Given the description of an element on the screen output the (x, y) to click on. 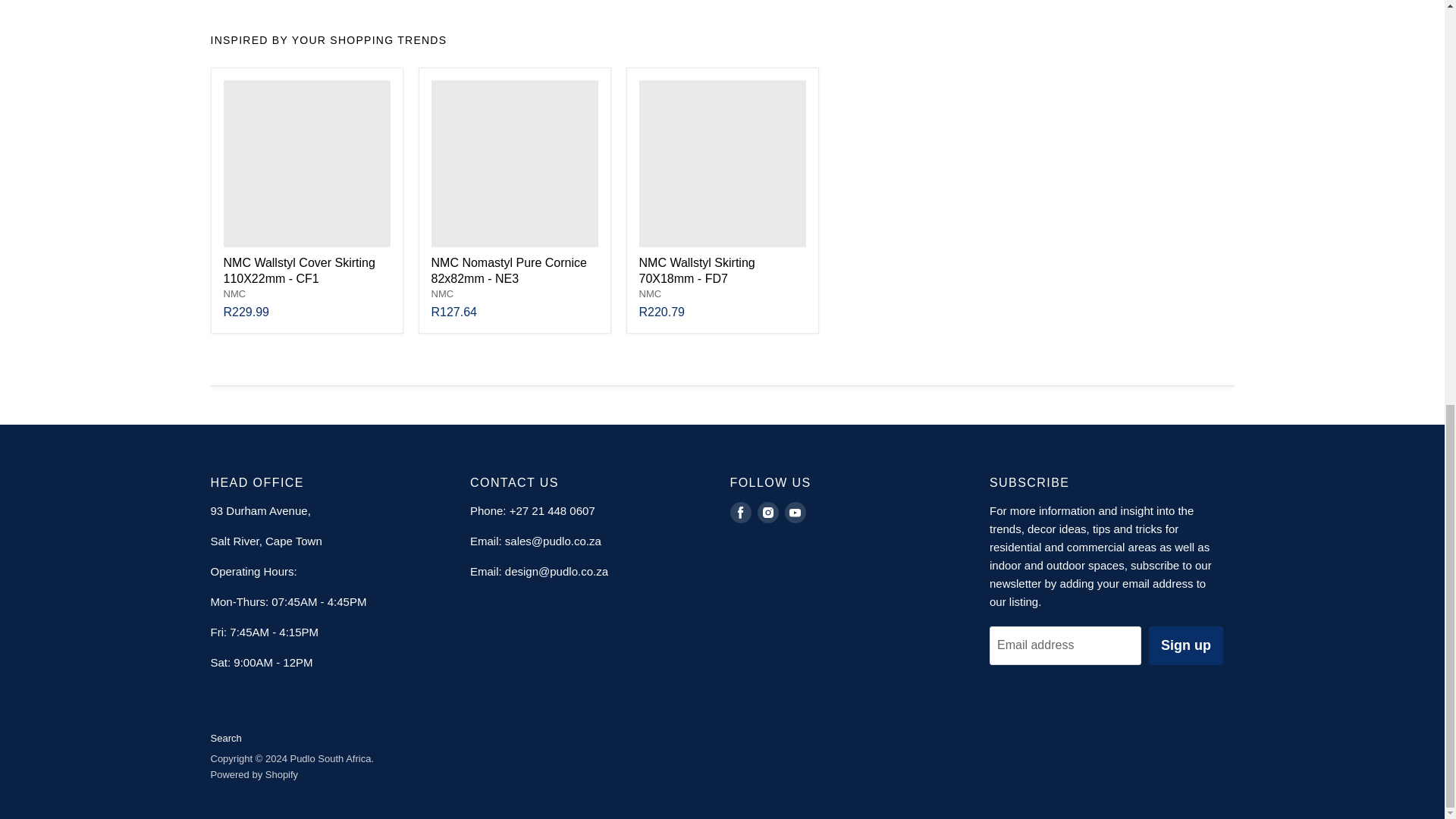
NMC (441, 293)
Facebook (740, 512)
NMC (650, 293)
Instagram (767, 512)
NMC (234, 293)
Youtube (794, 512)
